Given the description of an element on the screen output the (x, y) to click on. 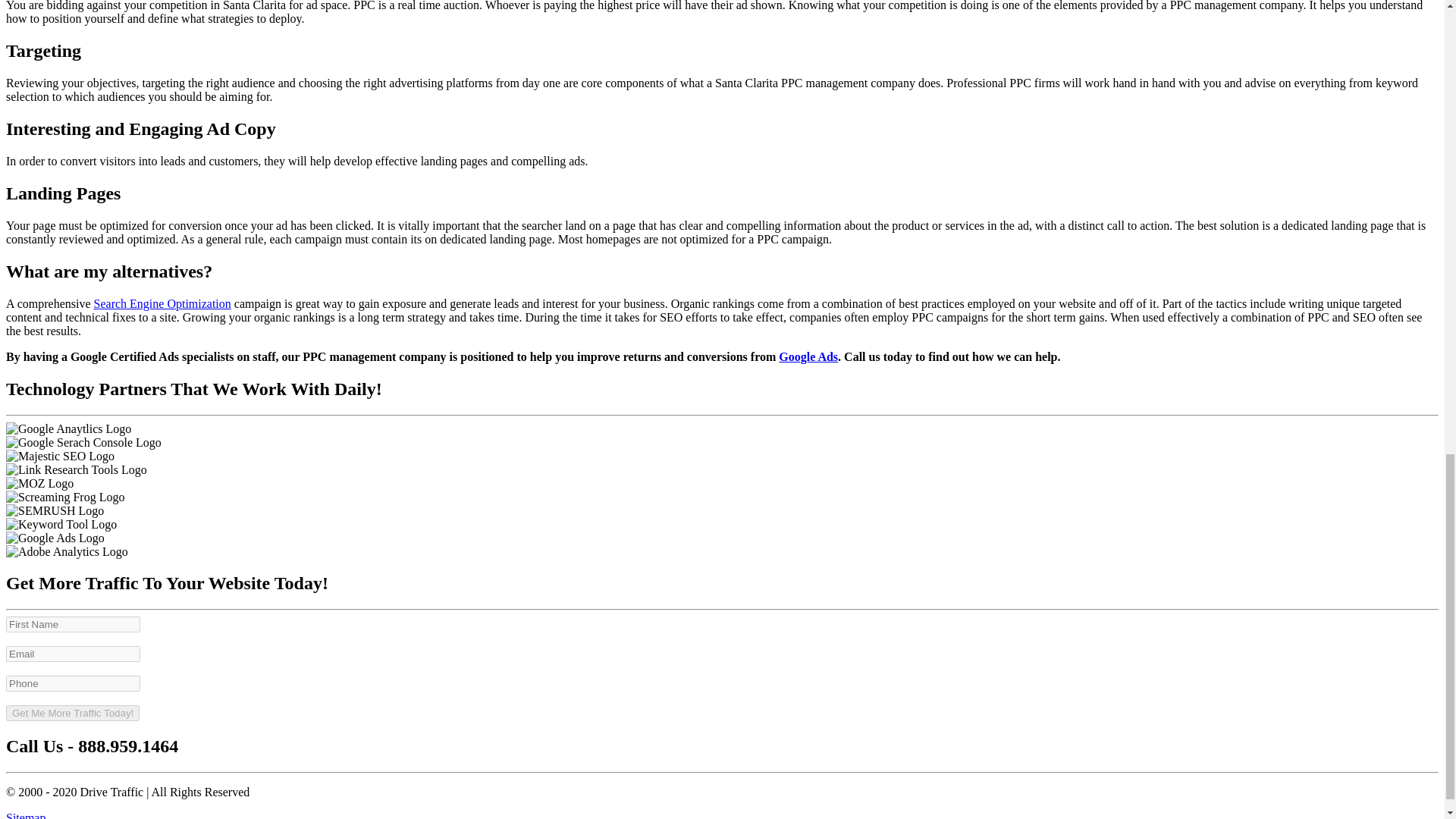
Google Ads (808, 356)
Search Engine Optimization (162, 303)
Get Me More Traffic Today! (72, 713)
Get Me More Traffic Today! (72, 713)
